Given the description of an element on the screen output the (x, y) to click on. 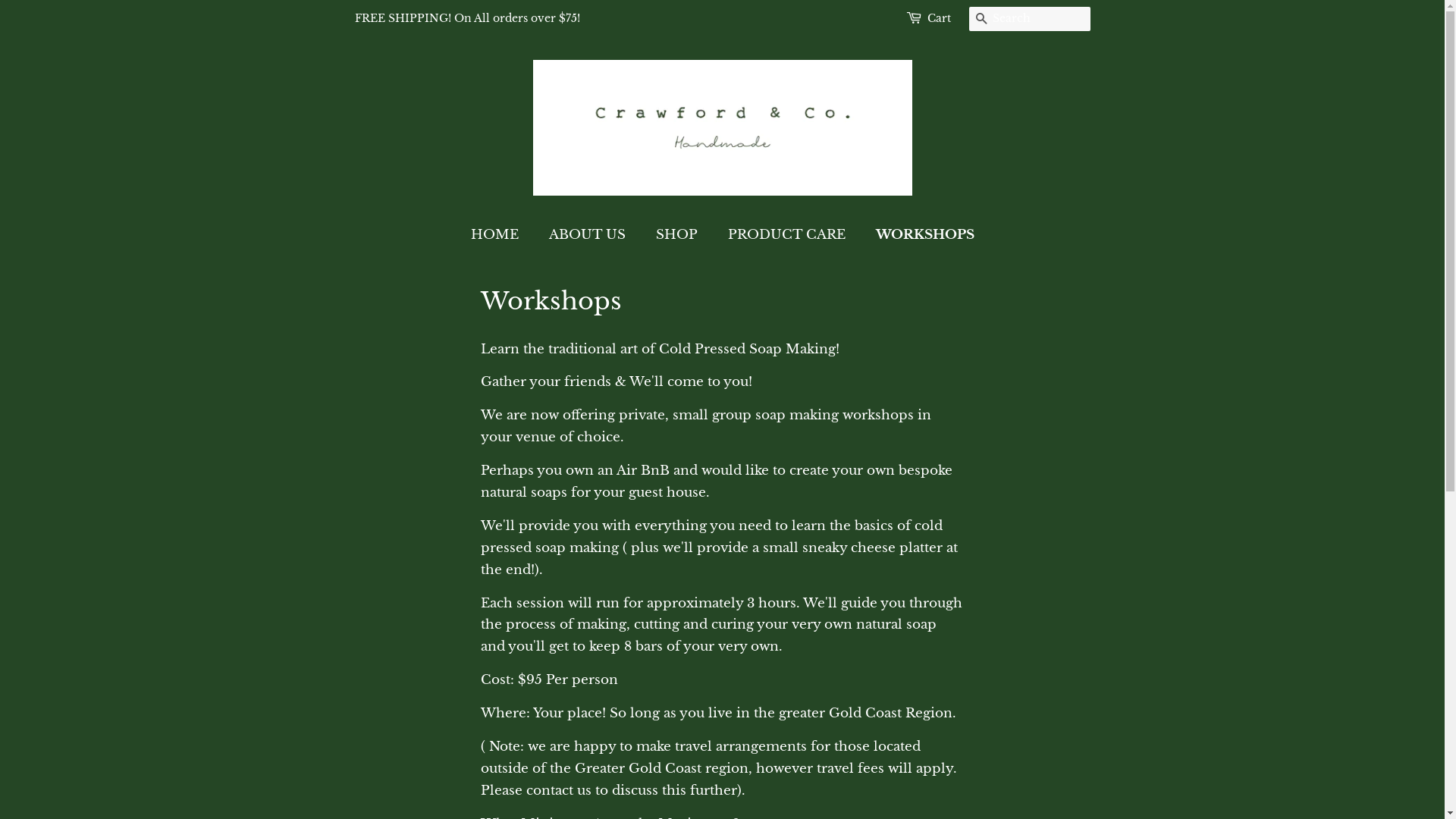
SEARCH Element type: text (981, 18)
ABOUT US Element type: text (588, 235)
WORKSHOPS Element type: text (919, 235)
PRODUCT CARE Element type: text (787, 235)
HOME Element type: text (501, 235)
Cart Element type: text (938, 18)
SHOP Element type: text (678, 235)
